Given the description of an element on the screen output the (x, y) to click on. 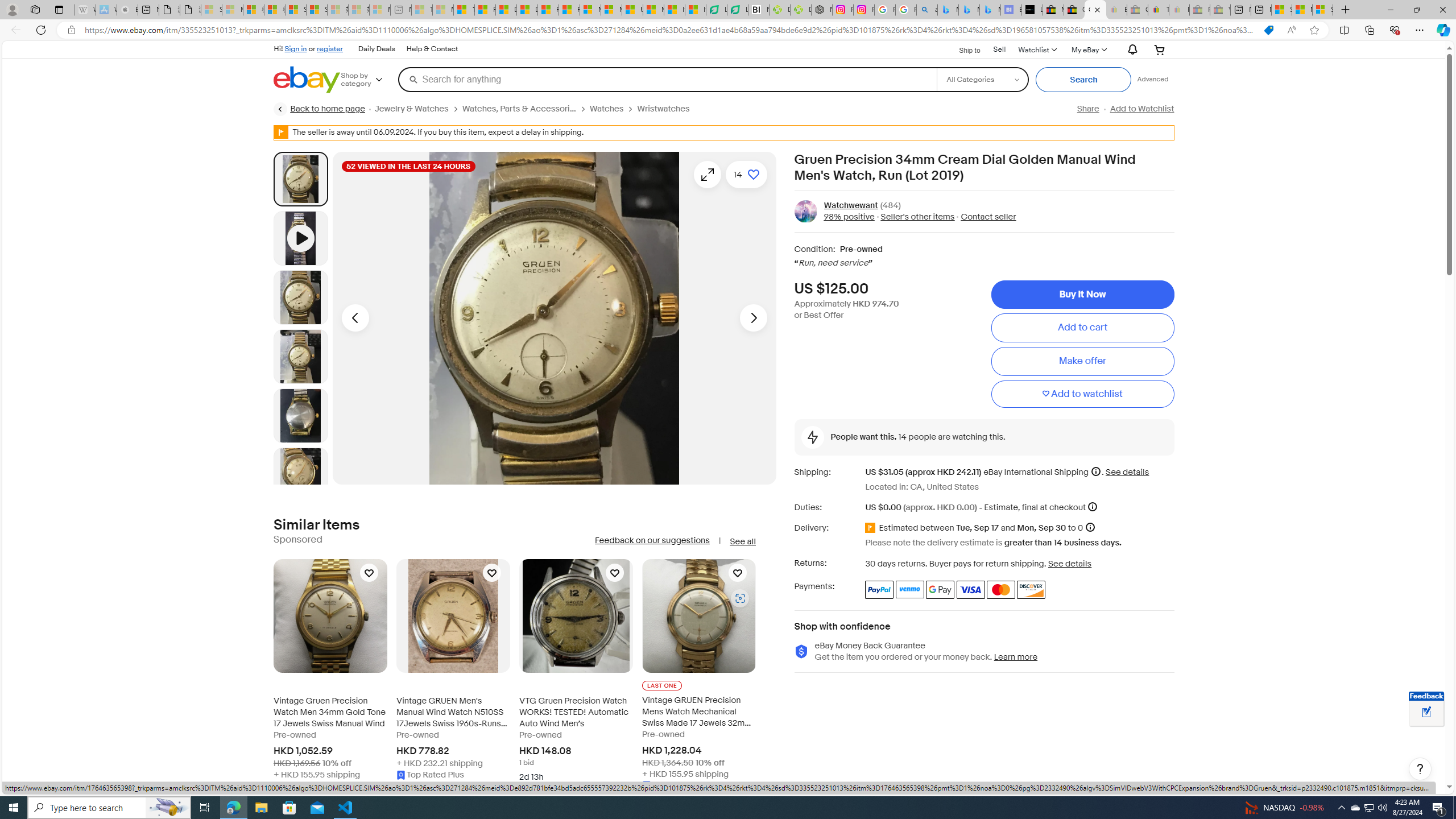
Buy iPad - Apple - Sleeping (127, 9)
Buy It Now (1082, 294)
eBay Home (306, 79)
Picture 2 of 13 (300, 297)
Top Stories - MSN - Sleeping (421, 9)
Shanghai, China hourly forecast | Microsoft Weather (1281, 9)
See details - for more information about returns (1070, 563)
Share (1087, 108)
Picture 5 of 13 (300, 474)
Wristwatches (663, 108)
